Given the description of an element on the screen output the (x, y) to click on. 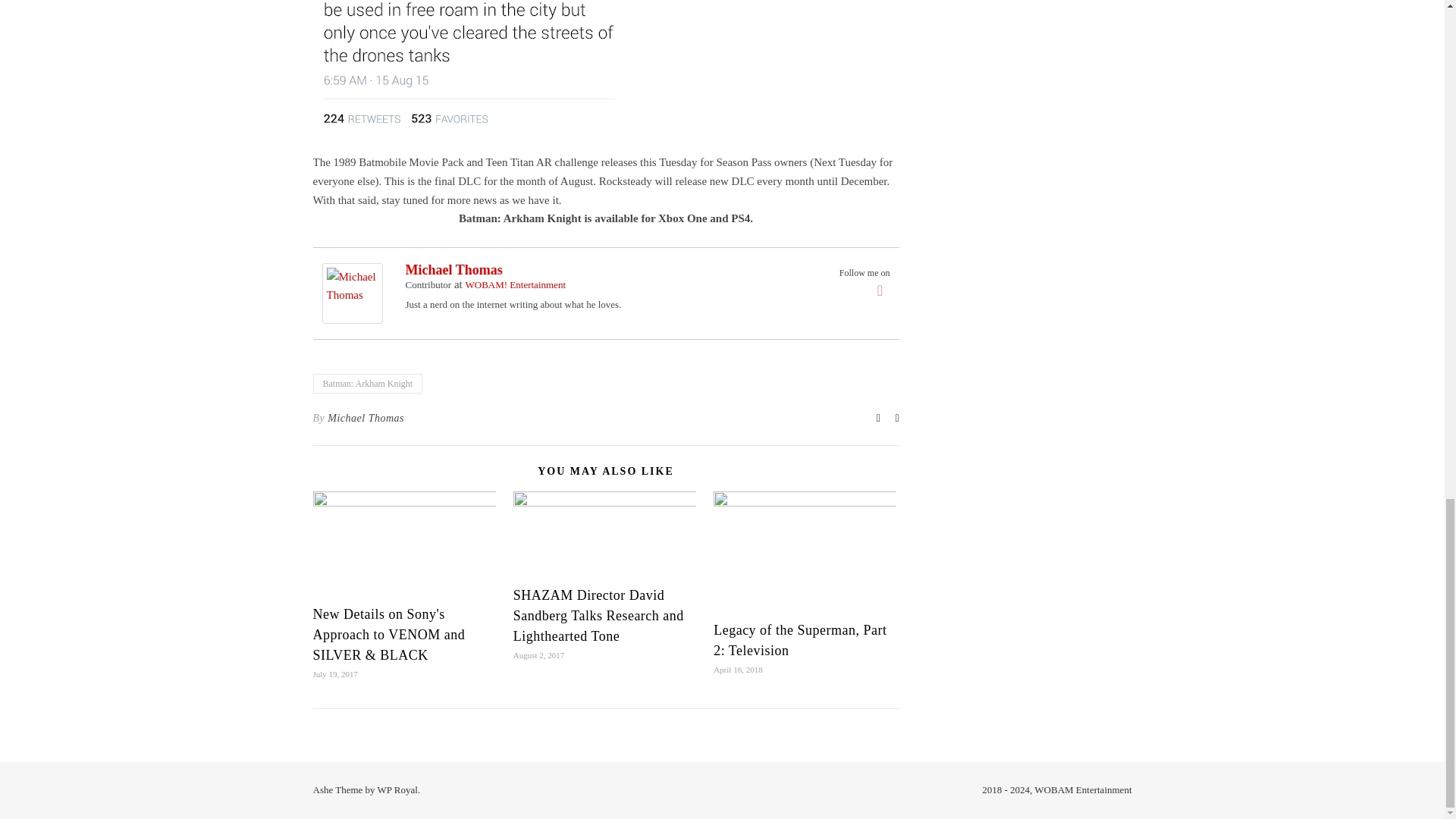
Michael Thomas (355, 292)
Twitter (879, 290)
Posts by Michael Thomas (365, 418)
